Given the description of an element on the screen output the (x, y) to click on. 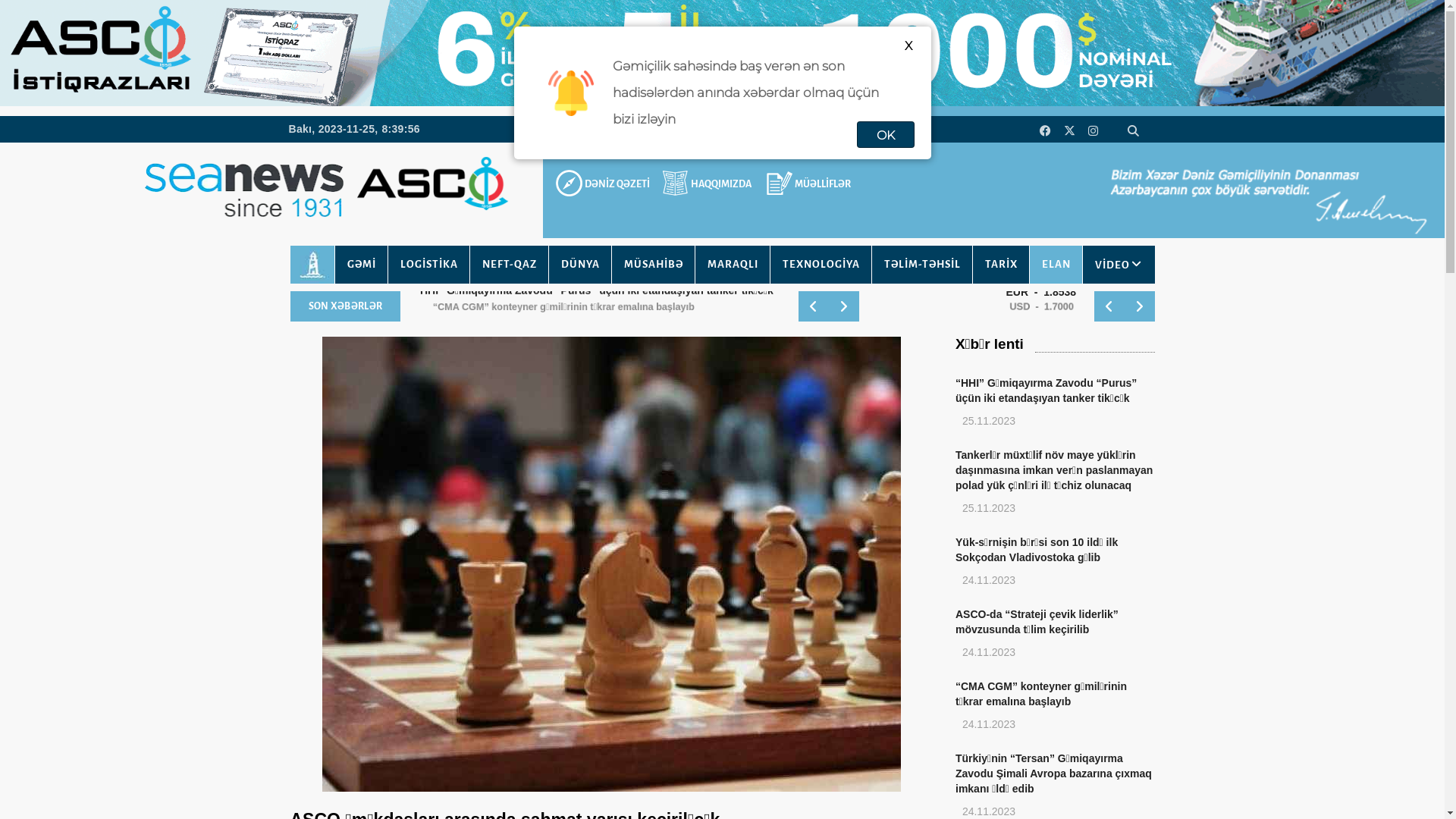
ELAN Element type: text (1054, 264)
X Element type: text (908, 45)
MARAQLI Element type: text (731, 264)
NEFT-QAZ Element type: text (507, 264)
HAQQIMIZDA Element type: text (707, 183)
OK Element type: text (885, 134)
